Given the description of an element on the screen output the (x, y) to click on. 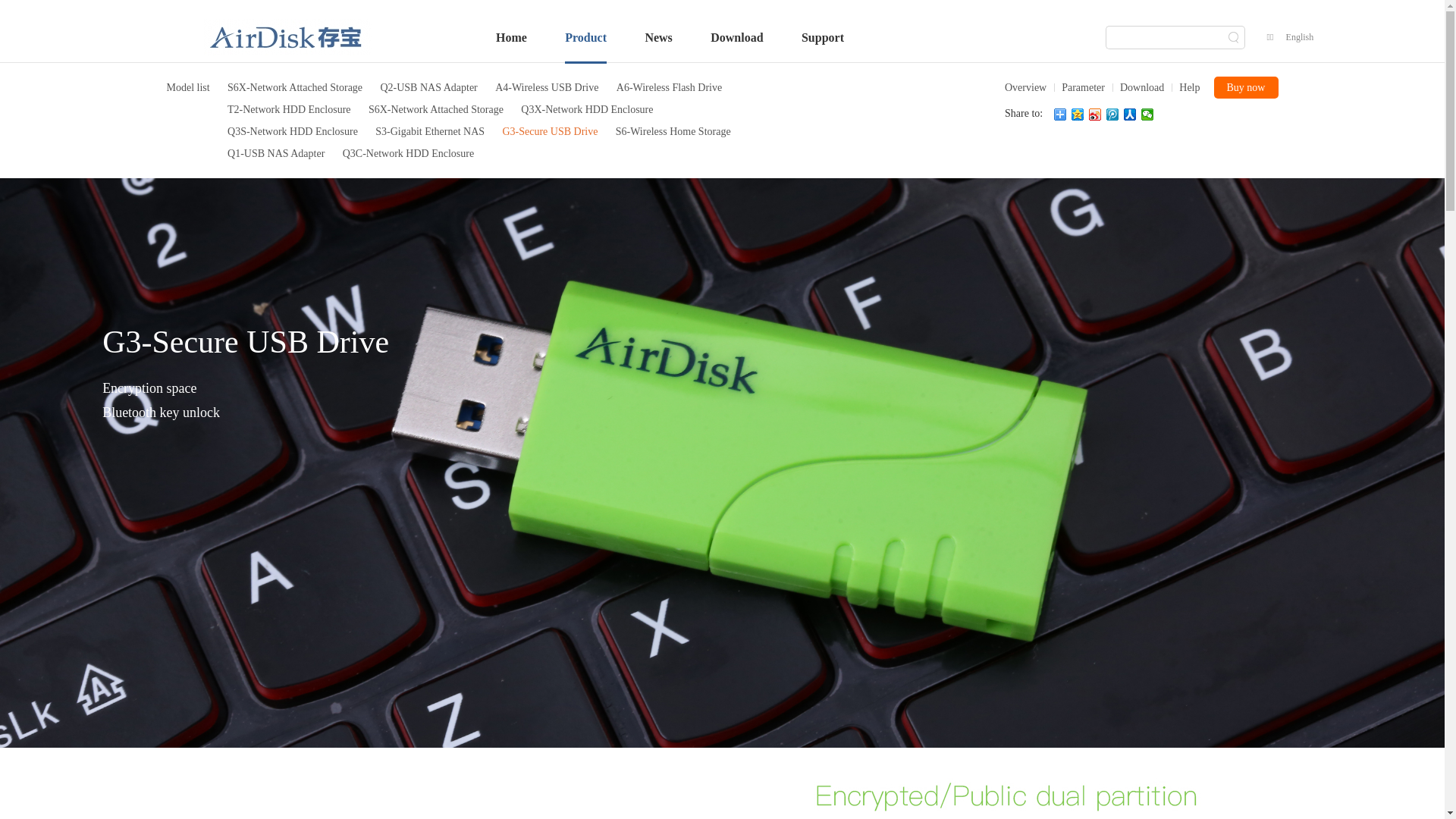
Q3S-Network HDD Enclosure Element type: text (292, 131)
Q3X-Network HDD Enclosure Element type: text (586, 109)
S6-Wireless Home Storage Element type: text (673, 131)
Download Element type: text (1138, 87)
English Element type: text (1300, 37)
Home Element type: text (511, 37)
Q3C-Network HDD Enclosure Element type: text (407, 153)
G3-Secure USB Drive Element type: text (549, 131)
Q1-USB NAS Adapter Element type: text (275, 153)
A4-Wireless USB Drive Element type: text (546, 87)
Download Element type: text (736, 37)
Help Element type: text (1185, 87)
Support Element type: text (822, 37)
Overview Element type: text (1025, 87)
T2-Network HDD Enclosure Element type: text (289, 109)
News Element type: text (657, 37)
Buy now Element type: text (1245, 87)
Product Element type: text (585, 37)
S6X-Network Attached Storage Element type: text (294, 87)
Q2-USB NAS Adapter Element type: text (427, 87)
Parameter Element type: text (1079, 87)
S6X-Network Attached Storage Element type: text (435, 109)
A6-Wireless Flash Drive Element type: text (668, 87)
S3-Gigabit Ethernet NAS Element type: text (429, 131)
